Given the description of an element on the screen output the (x, y) to click on. 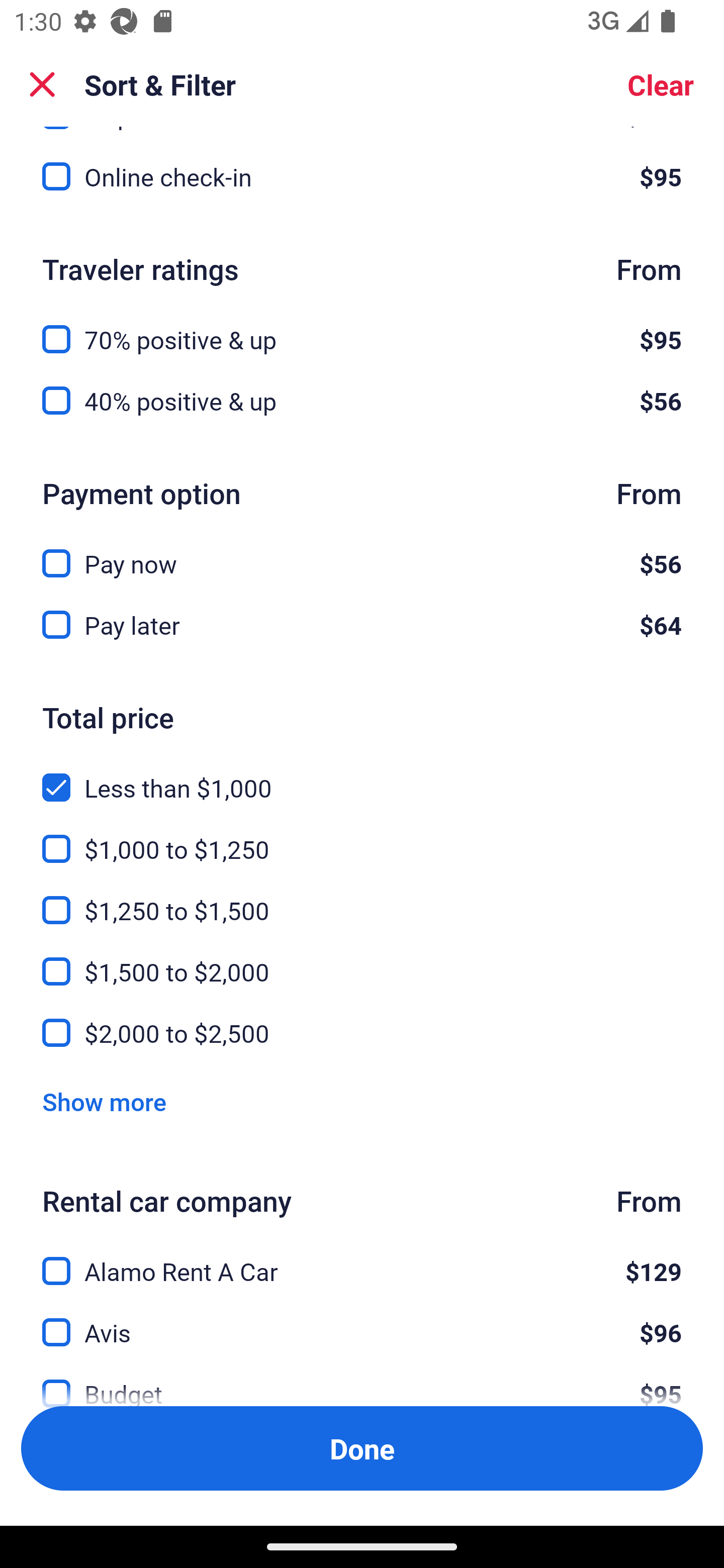
Close Sort and Filter (42, 84)
Clear (660, 84)
Online check-in, $95 Online check-in $95 (361, 176)
70% positive & up, $95 70% positive & up $95 (361, 328)
40% positive & up, $56 40% positive & up $56 (361, 401)
Pay now, $56 Pay now $56 (361, 552)
Pay later, $64 Pay later $64 (361, 625)
Less than $1,000, Less than $1,000 (361, 776)
$1,000 to $1,250, $1,000 to $1,250 (361, 837)
$1,250 to $1,500, $1,250 to $1,500 (361, 898)
$1,500 to $2,000, $1,500 to $2,000 (361, 959)
$2,000 to $2,500, $2,000 to $2,500 (361, 1032)
Show more Show more Link (103, 1101)
Alamo Rent A Car, $129 Alamo Rent A Car $129 (361, 1259)
Avis, $96 Avis $96 (361, 1320)
Budget, $95 Budget $95 (361, 1378)
Apply and close Sort and Filter Done (361, 1448)
